Given the description of an element on the screen output the (x, y) to click on. 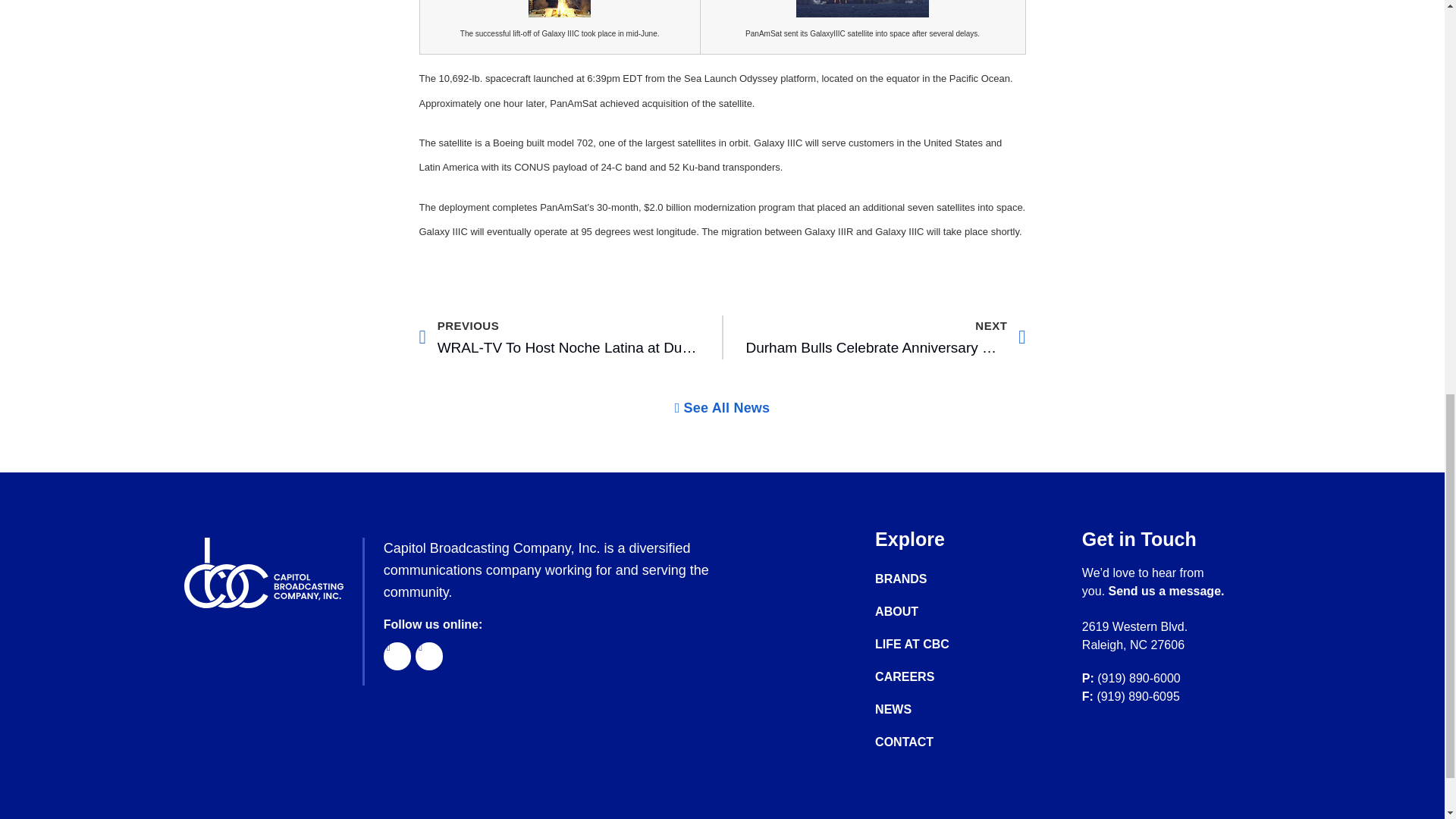
NEWS (926, 709)
BRANDS (926, 579)
CAREERS (926, 676)
See All News (558, 337)
CONTACT (722, 407)
Send us a message. (926, 742)
LIFE AT CBC (1166, 590)
ABOUT (926, 644)
